Given the description of an element on the screen output the (x, y) to click on. 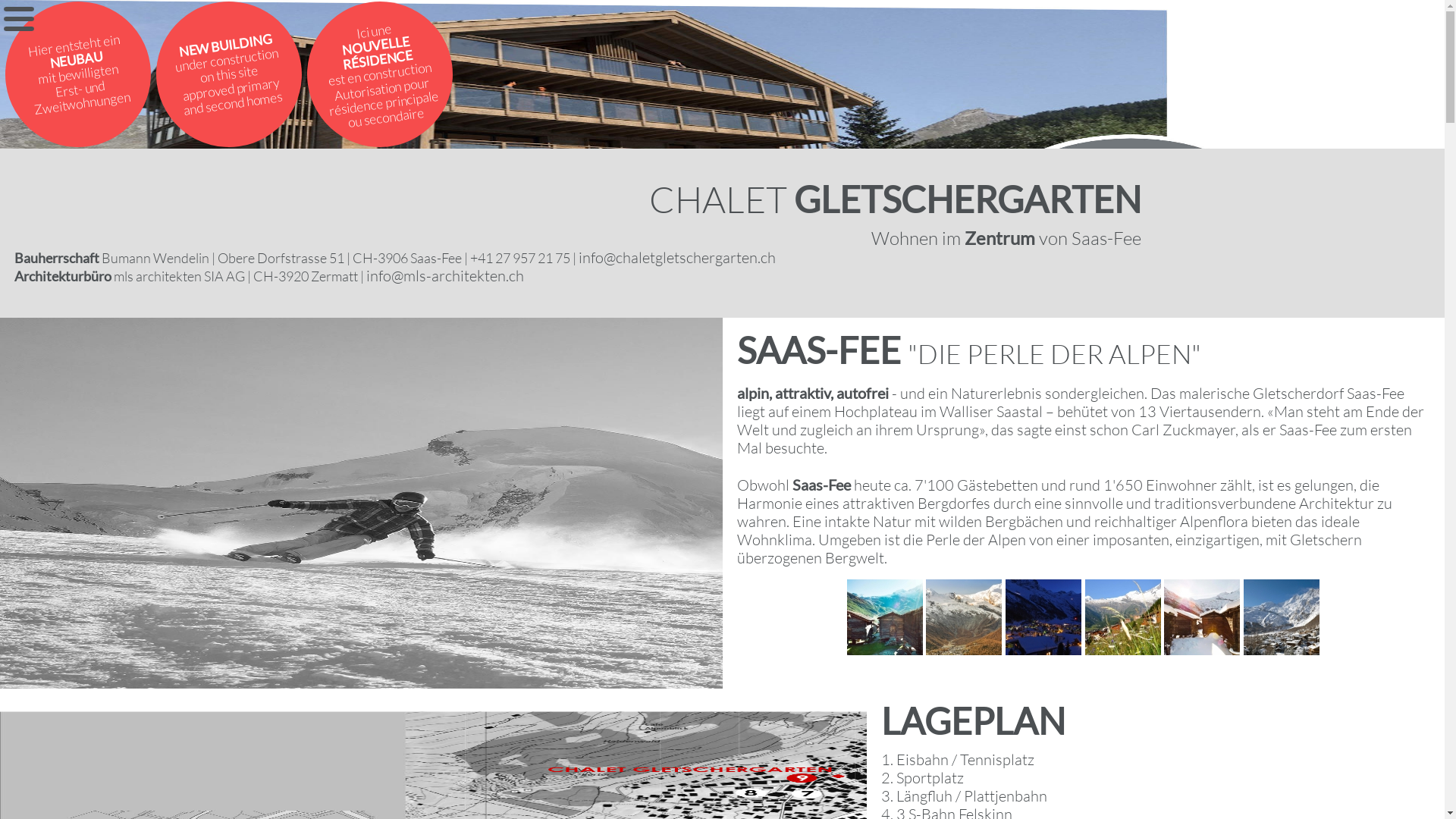
You are viewing the image with filename 6.jpg Element type: hover (1281, 617)
You are viewing the image with filename 3.jpg Element type: hover (1043, 617)
You are viewing the image with filename 1.jpg Element type: hover (884, 617)
info@chaletgletschergarten.ch Element type: text (676, 256)
info@mls-architekten.ch Element type: text (445, 275)
You are viewing the image with filename 4.jpg Element type: hover (1123, 617)
You are viewing the image with filename 2.jpg Element type: hover (963, 617)
You are viewing the image with filename 5.jpg Element type: hover (1201, 617)
